Given the description of an element on the screen output the (x, y) to click on. 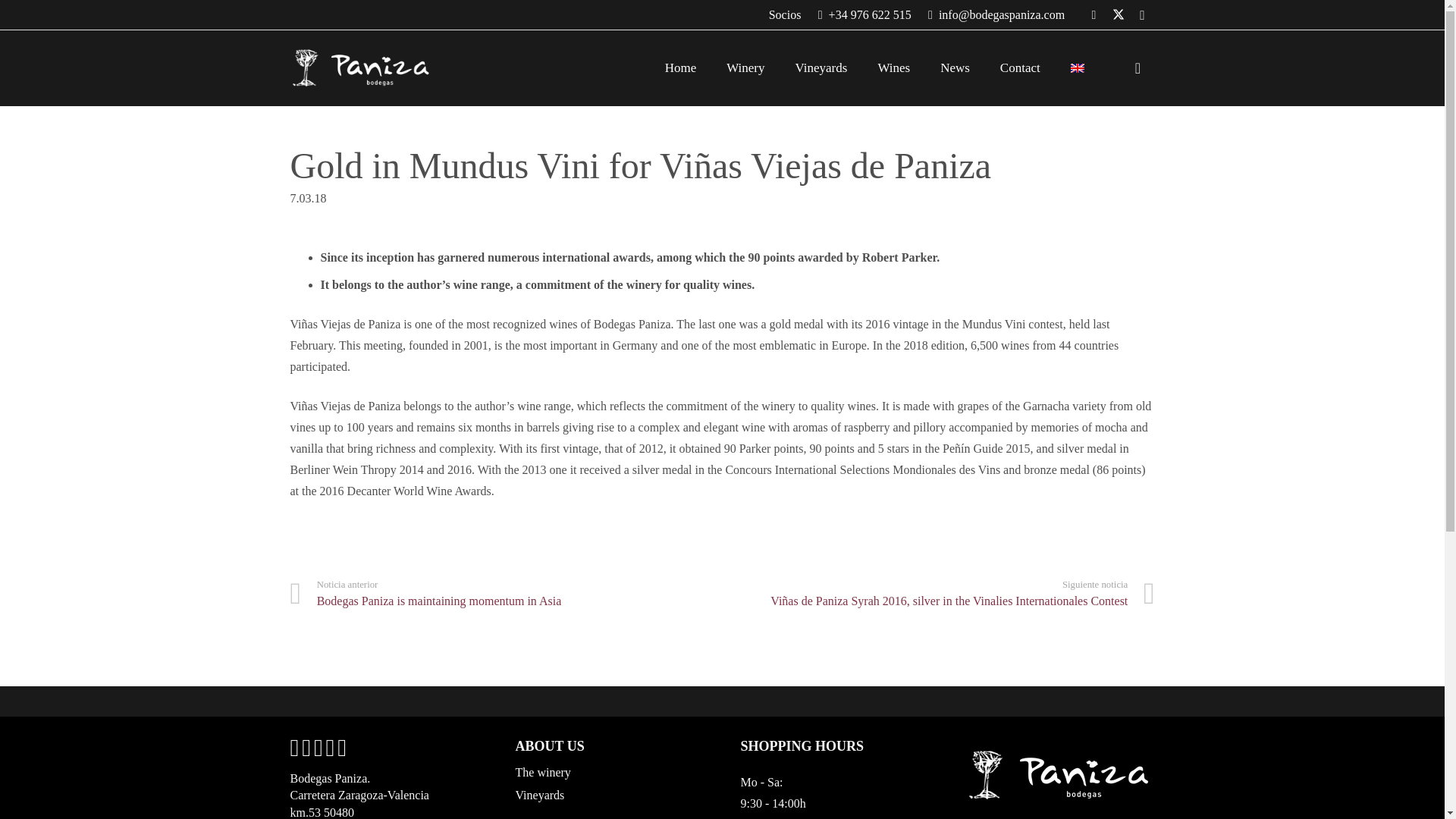
Bodegas Paniza is maintaining momentum in Asia (505, 594)
Home (680, 67)
Contact (1020, 67)
Winery (744, 67)
Socios (785, 14)
News (954, 67)
Wines (892, 67)
Vineyards (821, 67)
Facebook (1093, 15)
